Given the description of an element on the screen output the (x, y) to click on. 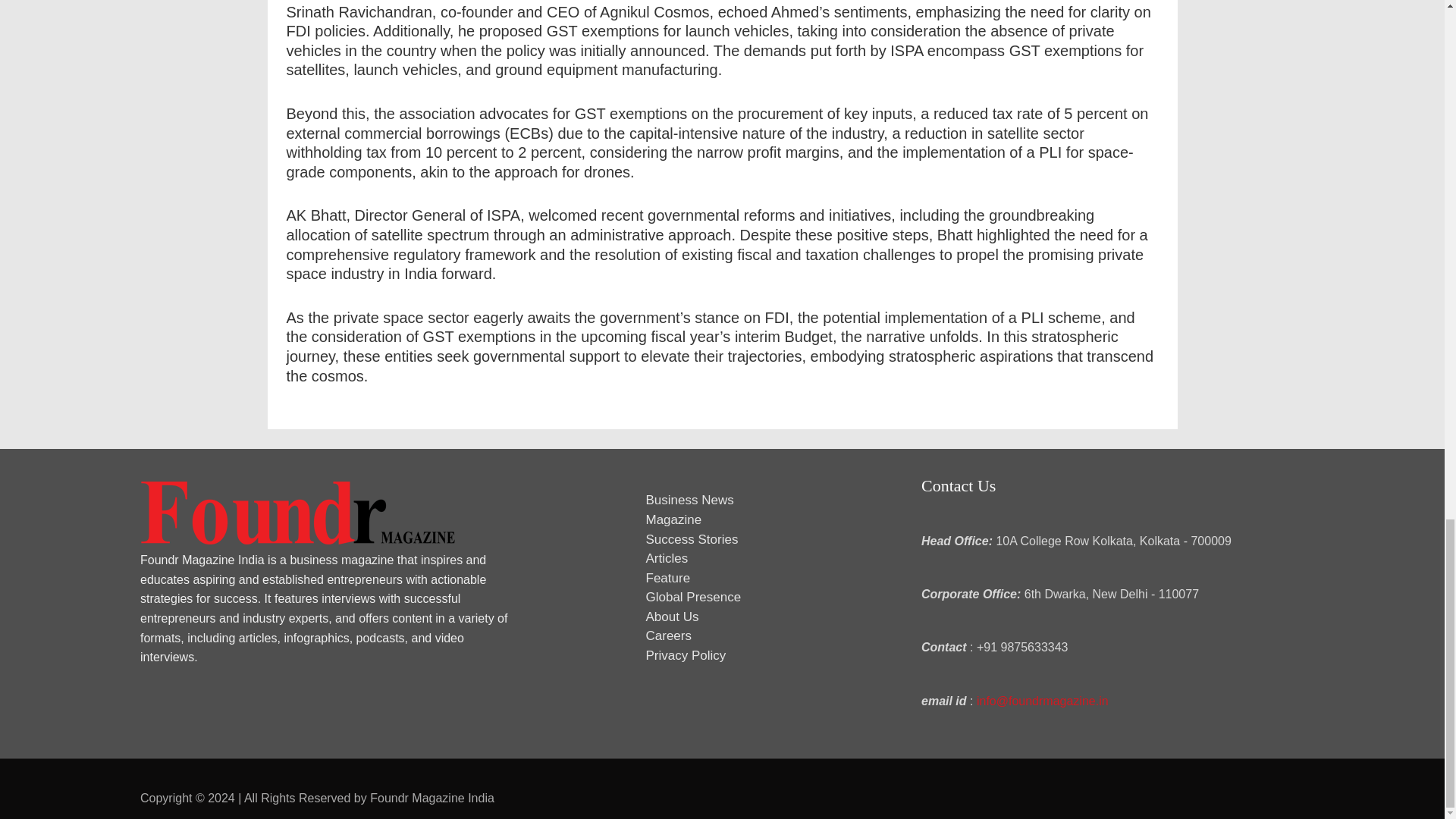
Success Stories (692, 539)
Articles (667, 558)
Business News (689, 499)
Magazine (673, 519)
